Given the description of an element on the screen output the (x, y) to click on. 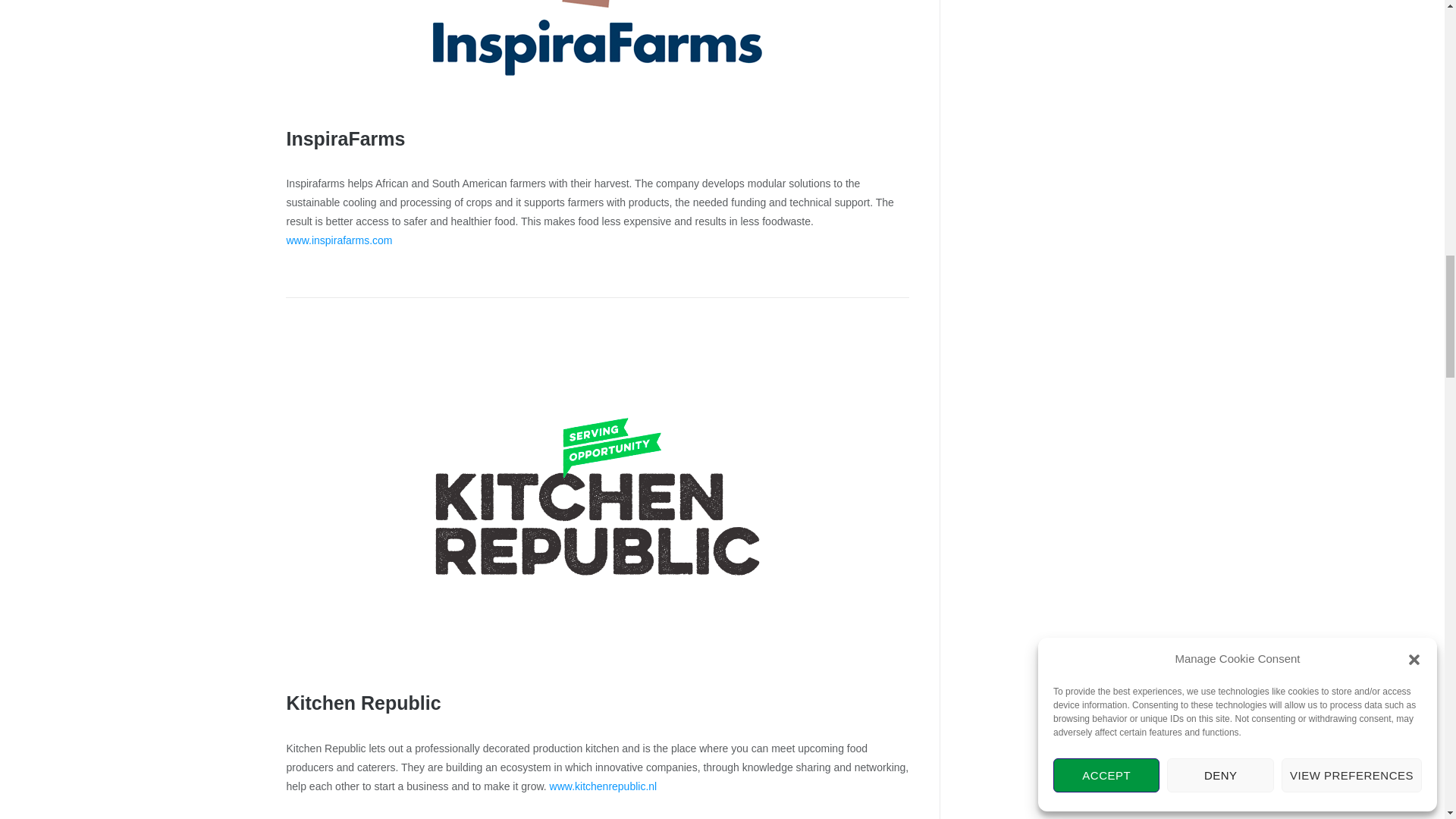
InspiraFarms (596, 51)
www.inspirafarms.com (338, 240)
www.kitchenrepublic.nl (604, 786)
InspiraFarms (344, 138)
Kitchen Republic (363, 702)
